Given the description of an element on the screen output the (x, y) to click on. 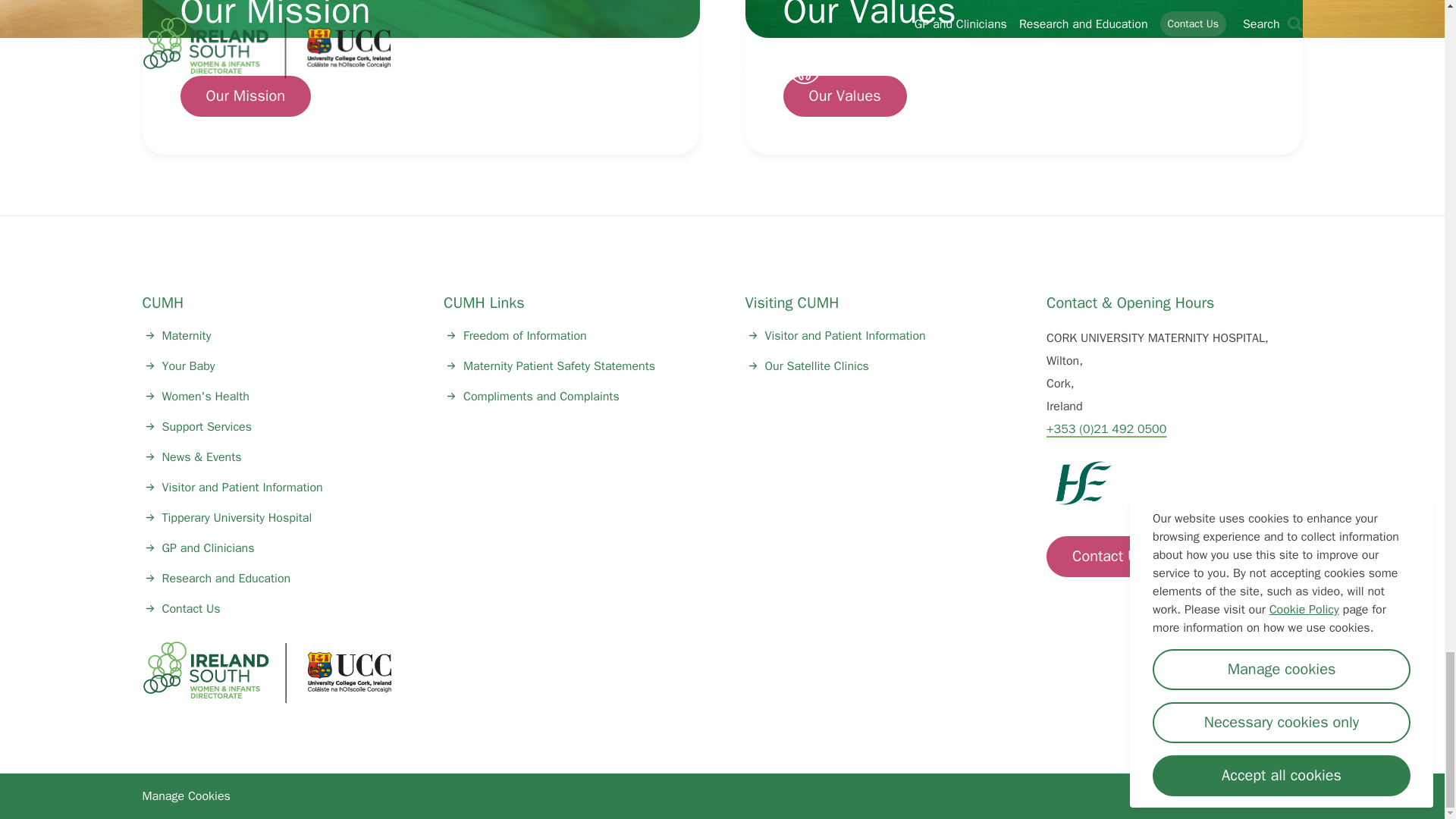
Instagram (1284, 673)
Youtube (1242, 673)
Linkedin (1198, 673)
Twitter (1156, 673)
HSE-Logo-Green-PNG (1082, 482)
